Given the description of an element on the screen output the (x, y) to click on. 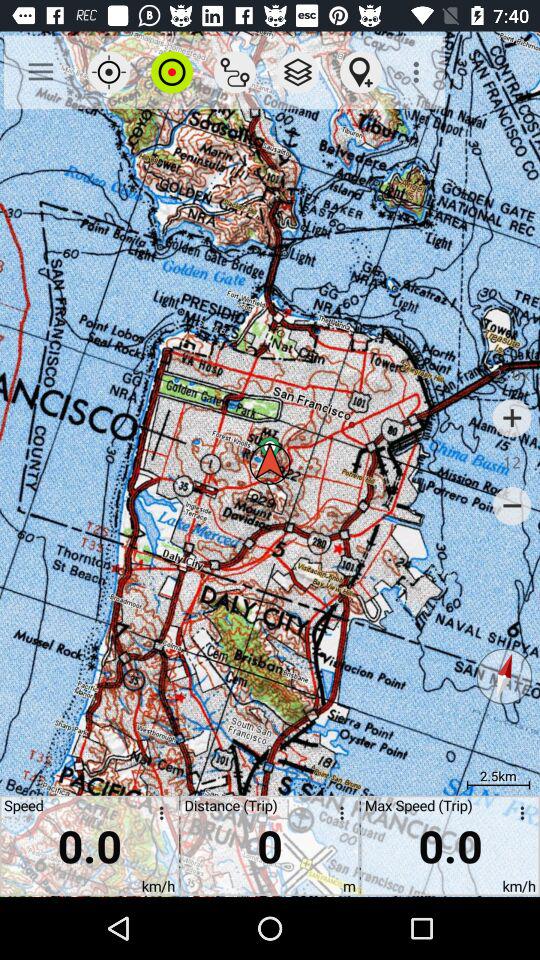
options for speed (158, 816)
